Given the description of an element on the screen output the (x, y) to click on. 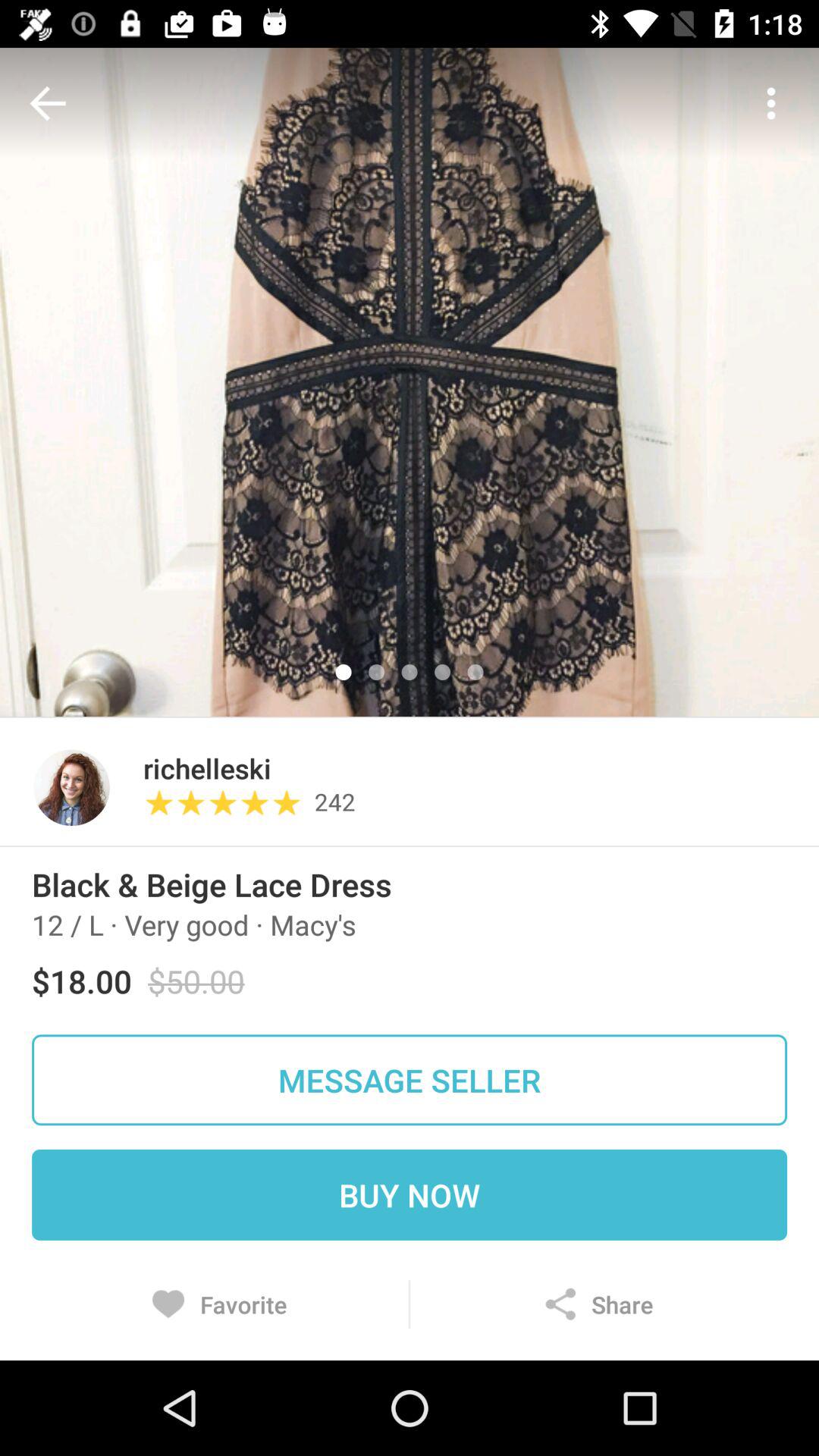
tap the icon below the $18.00 item (409, 1079)
